Given the description of an element on the screen output the (x, y) to click on. 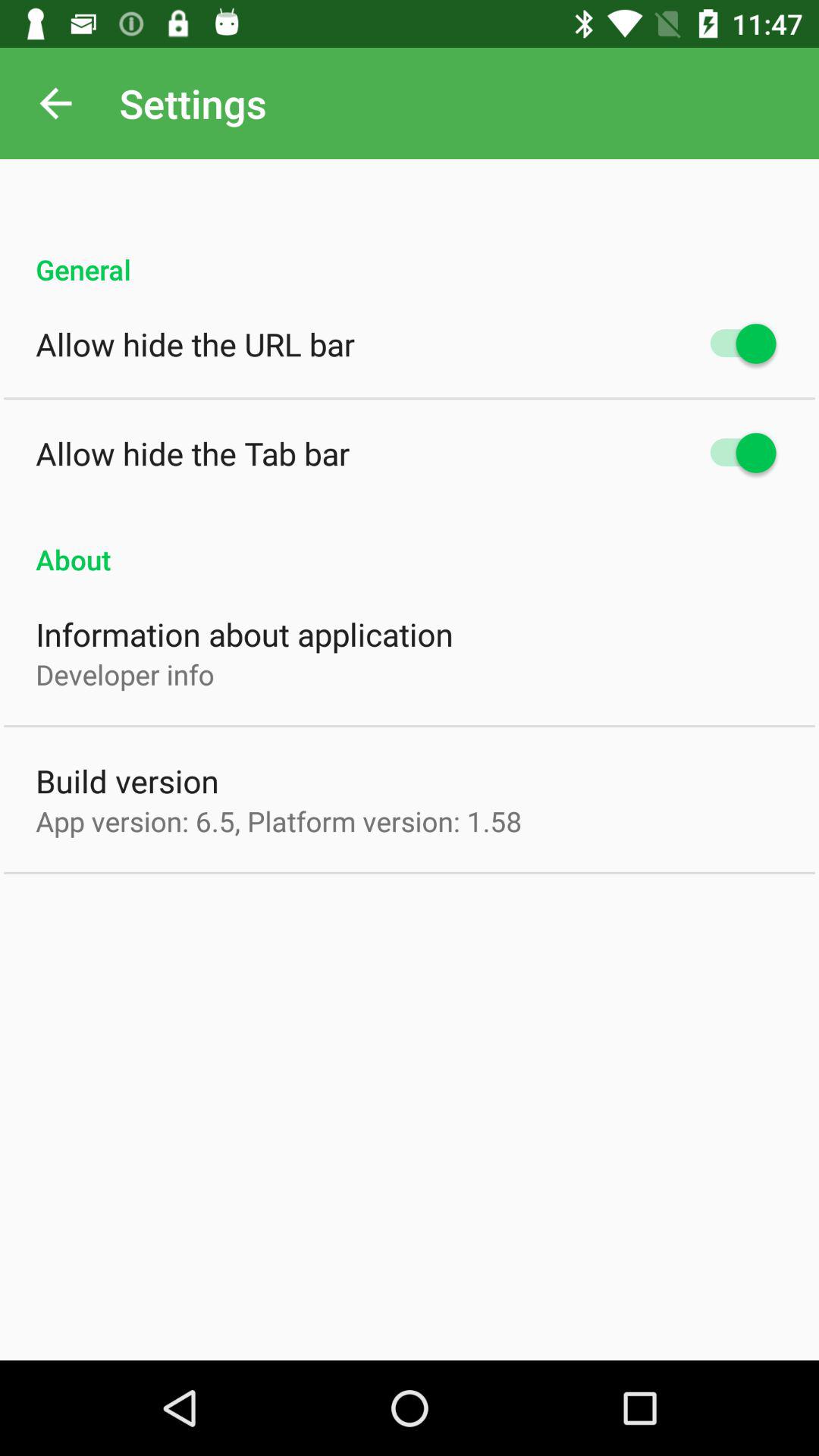
launch the app to the left of the settings app (55, 103)
